Given the description of an element on the screen output the (x, y) to click on. 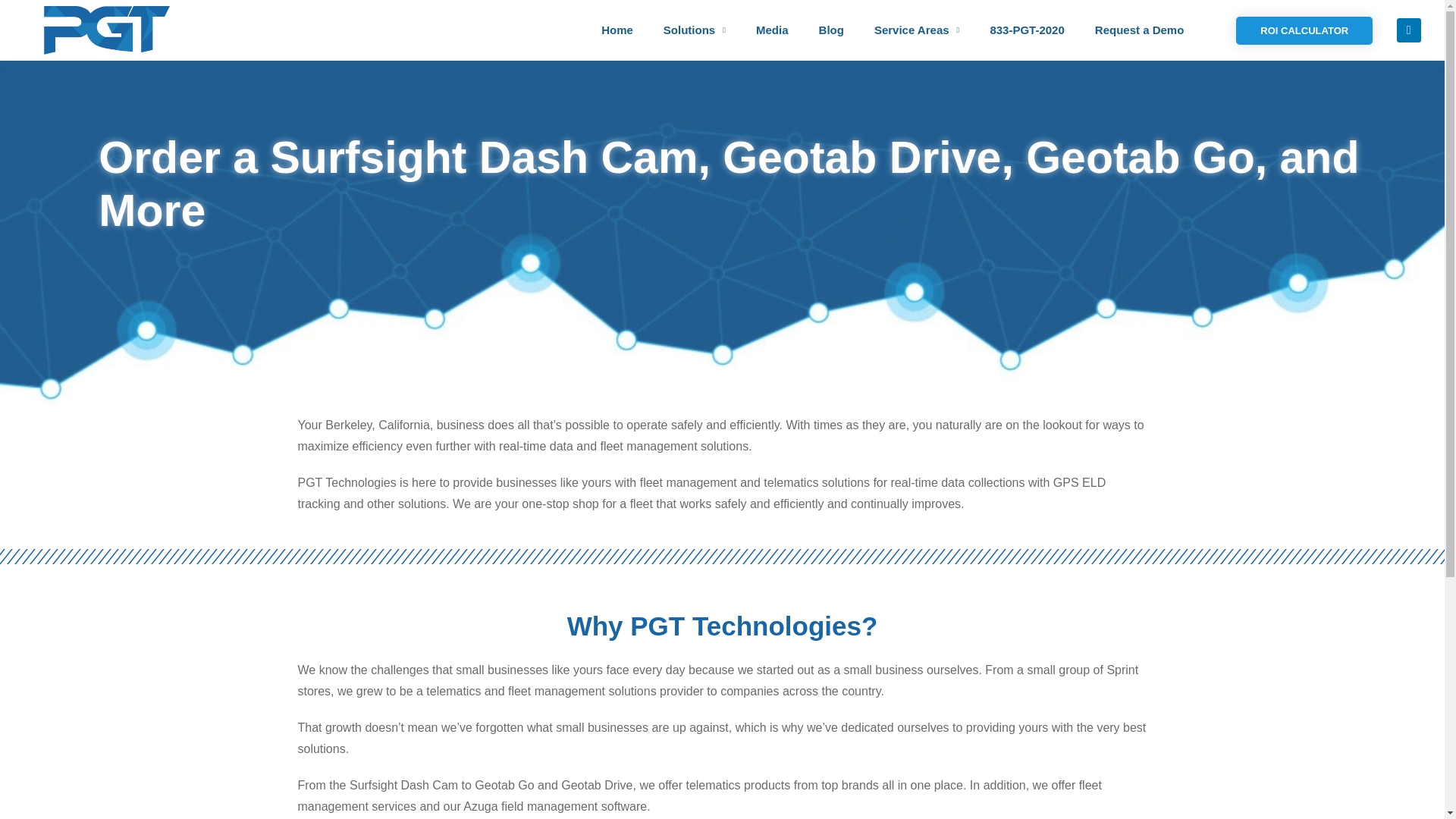
Blog (831, 30)
Service Areas (917, 30)
Solutions (694, 30)
Media (772, 30)
Home (616, 30)
